Given the description of an element on the screen output the (x, y) to click on. 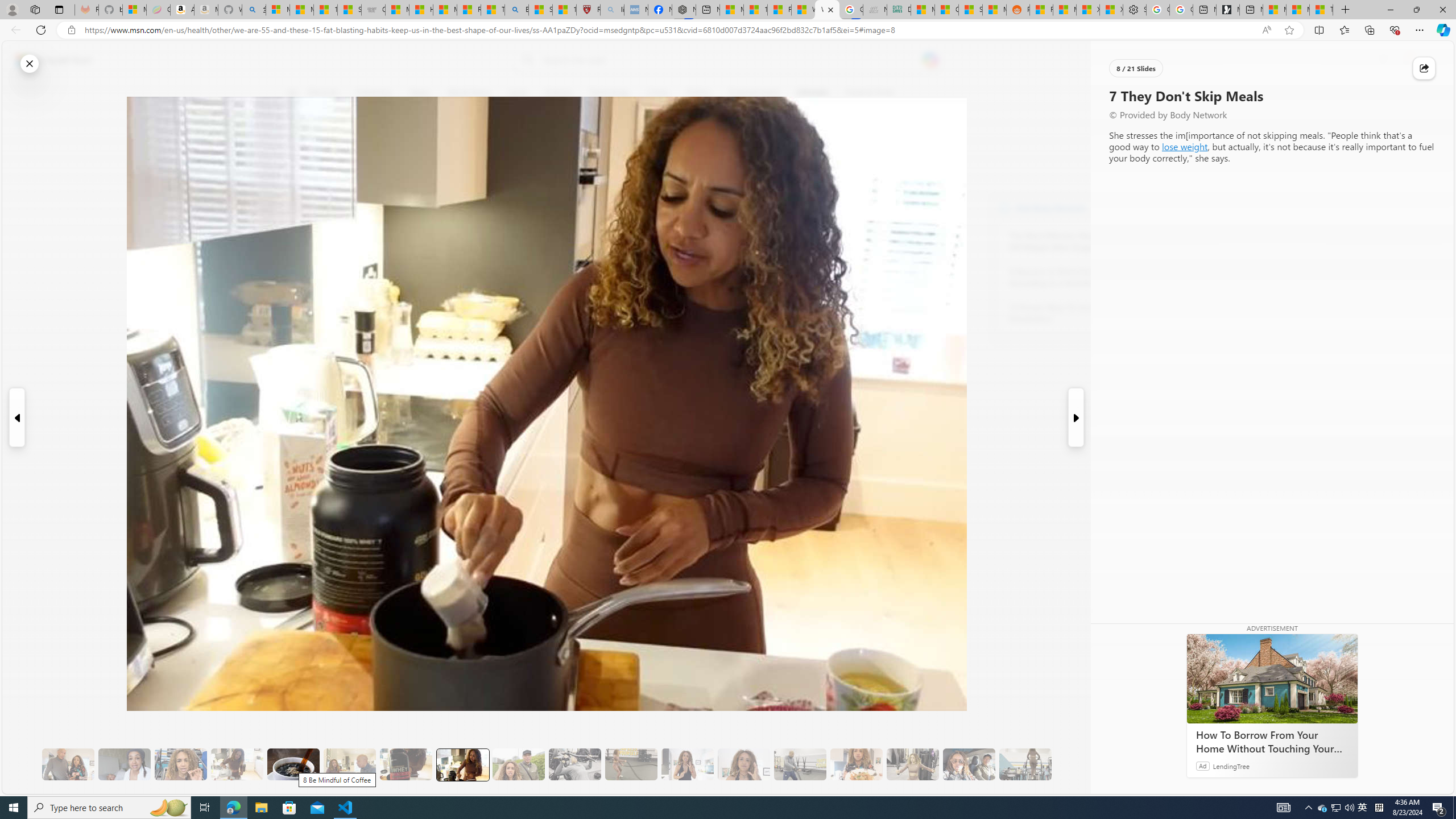
2 They Use Protein Powder for Flavor (180, 764)
5 She Eats Less Than Her Husband (349, 764)
Crime (657, 92)
Combat Siege (373, 9)
9 They Do Bench Exercises (574, 764)
Favorites (1344, 29)
Science (558, 92)
Stocks - MSN (970, 9)
1 We Eat a Protein-Packed Pre-Workout Snack (124, 764)
13 Her Husband Does Group Cardio Classs (800, 764)
Dislike (299, 170)
Personal Profile (12, 9)
New Tab (1346, 9)
